Given the description of an element on the screen output the (x, y) to click on. 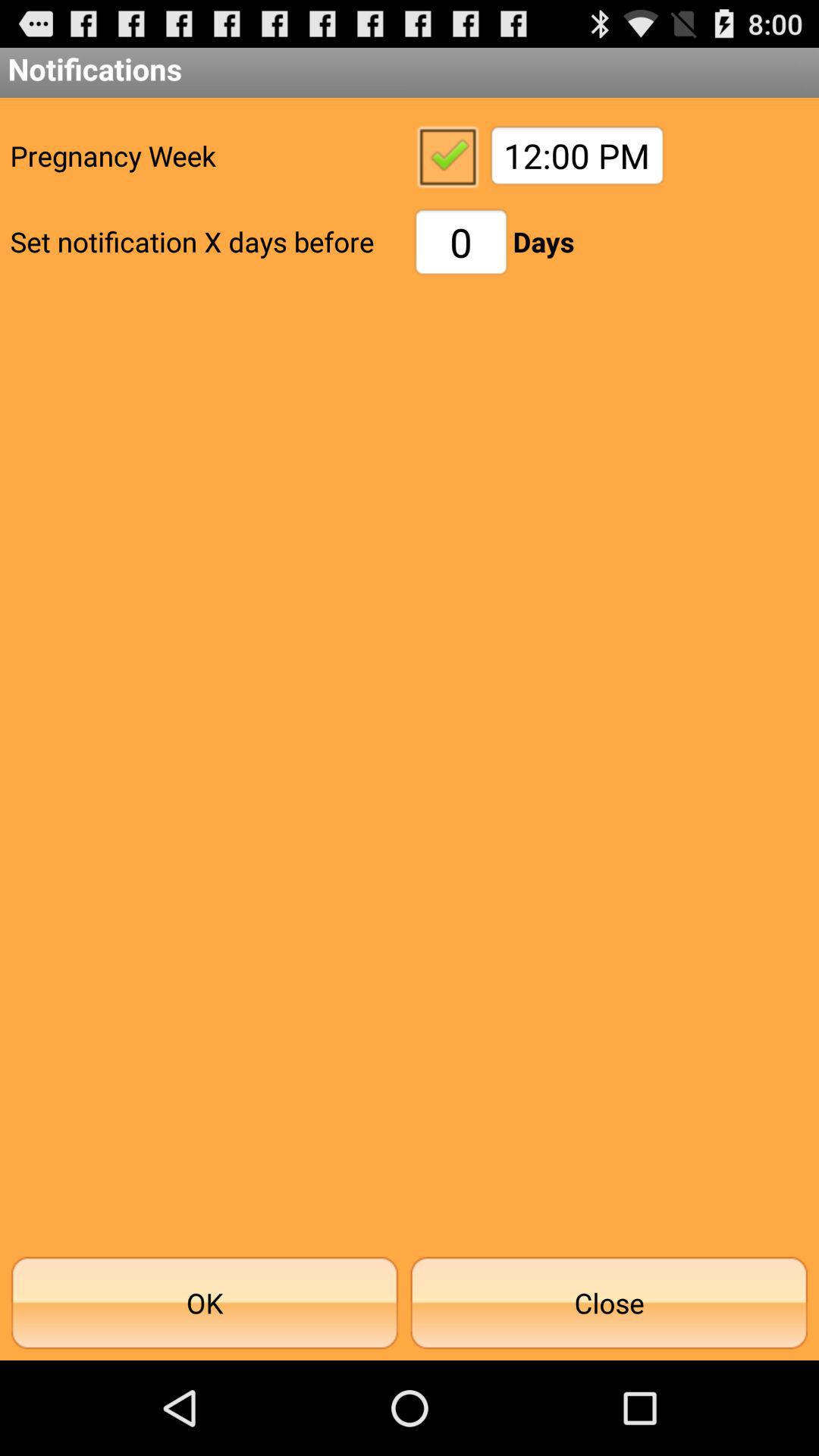
select the app next to 12:00 pm icon (447, 155)
